Given the description of an element on the screen output the (x, y) to click on. 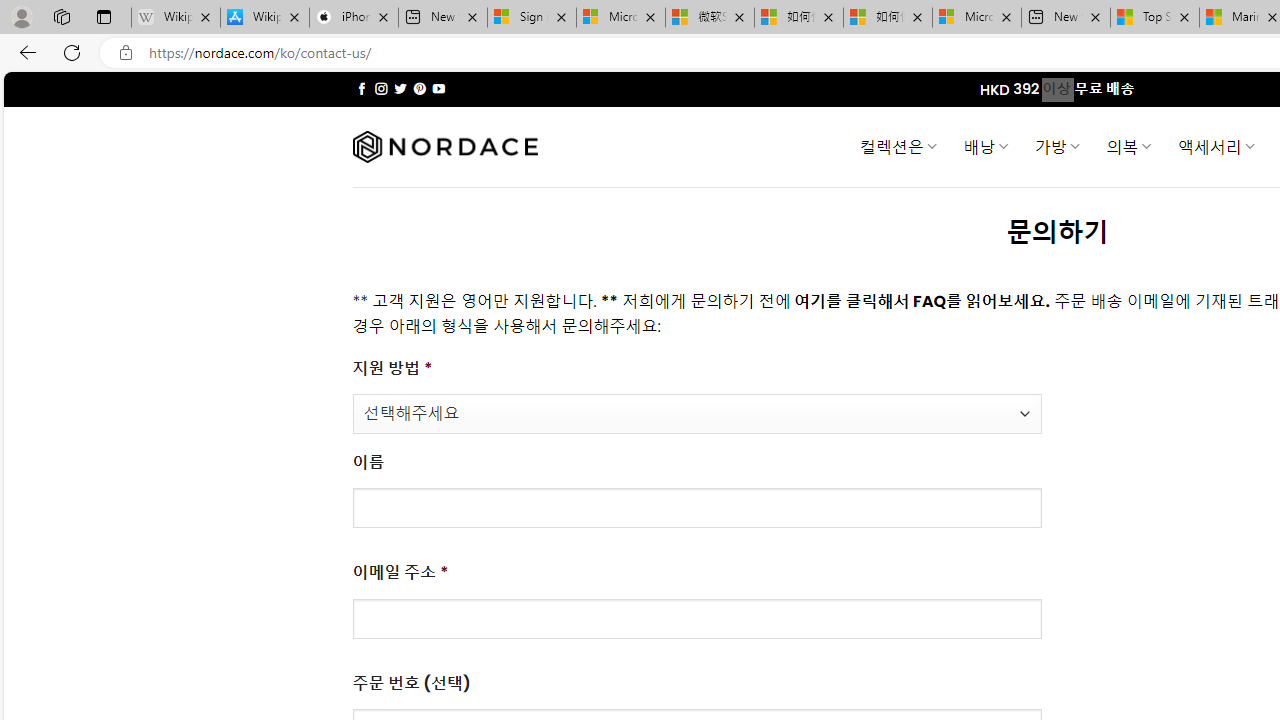
Follow on Twitter (400, 88)
Microsoft account | Account Checkup (977, 17)
Follow on YouTube (438, 88)
iPhone - Apple (353, 17)
